Given the description of an element on the screen output the (x, y) to click on. 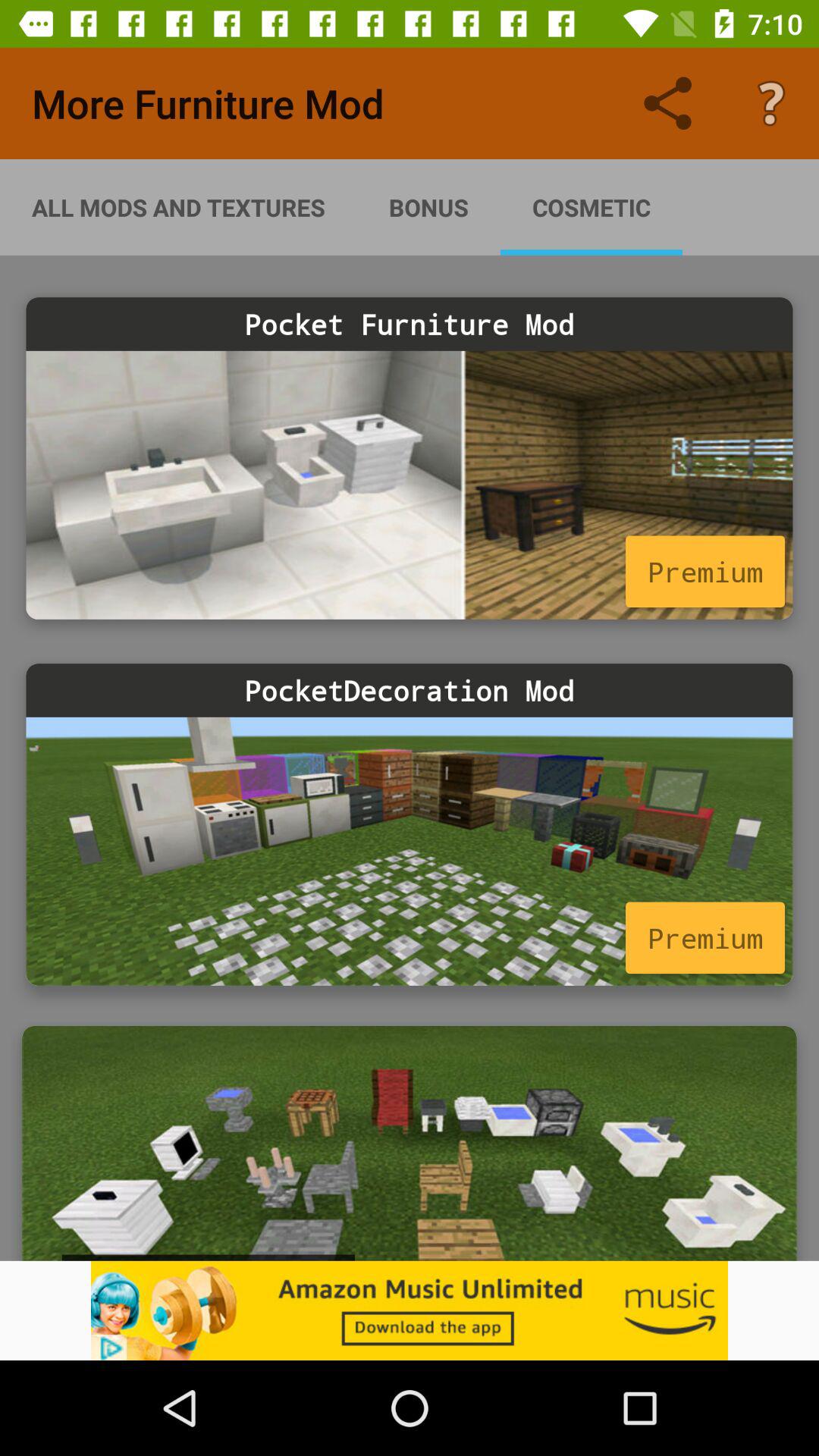
open this advertisement (409, 1143)
